Given the description of an element on the screen output the (x, y) to click on. 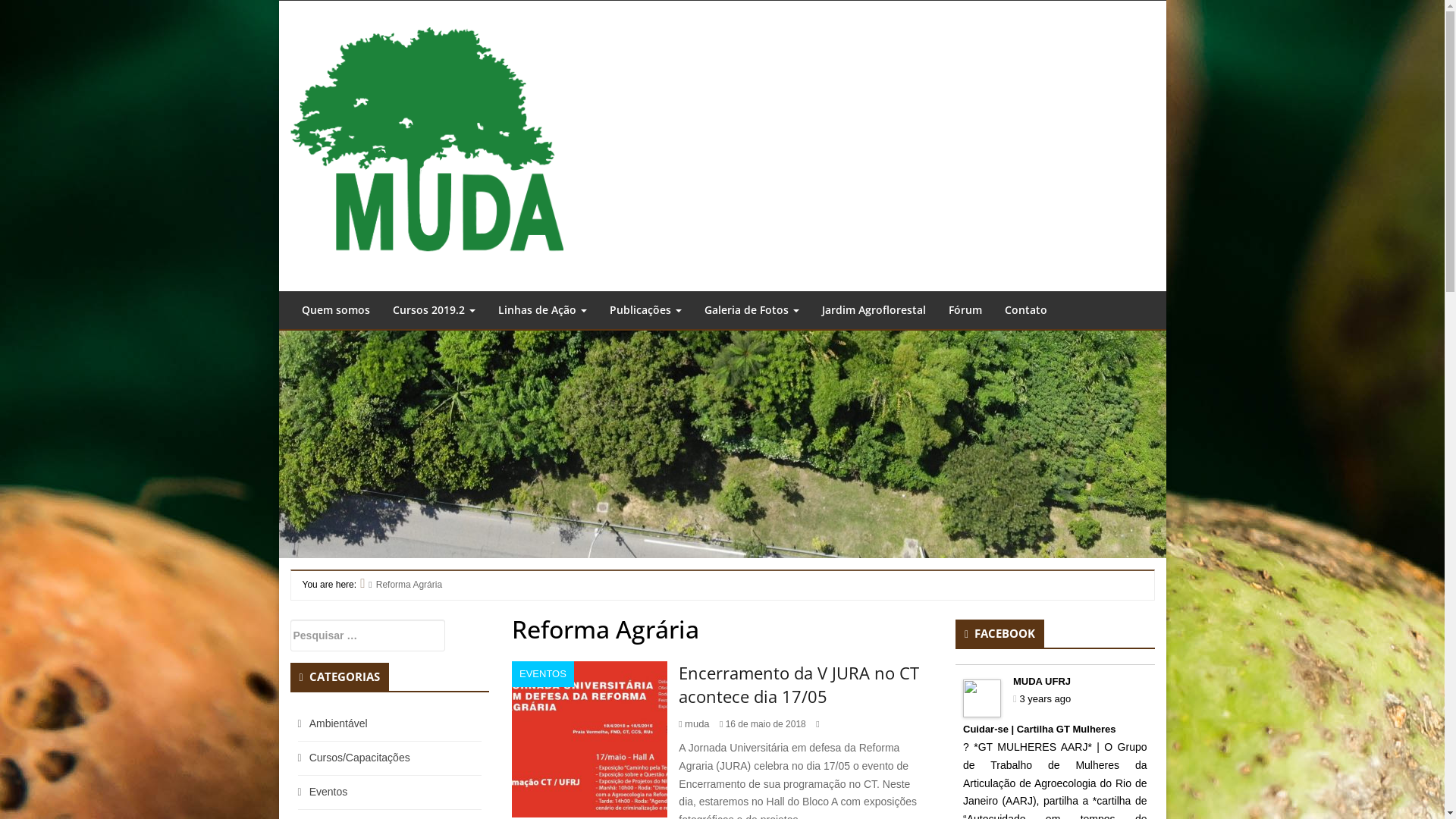
Contato Element type: text (1025, 310)
Eventos Element type: text (328, 791)
EVENTOS Element type: text (542, 674)
Quem somos Element type: text (334, 310)
muda Element type: text (696, 723)
Encerramento da V JURA no CT acontece dia 17/05 Element type: text (798, 684)
Galeria de Fotos Element type: text (751, 310)
Jardim Agroflorestal Element type: text (872, 310)
Cuidar-se | Cartilha GT Mulheres Element type: text (1039, 728)
Pesquisar Element type: text (111, 12)
Cursos 2019.2 Element type: text (433, 310)
MUDA UFRJ Element type: text (1041, 681)
